Given the description of an element on the screen output the (x, y) to click on. 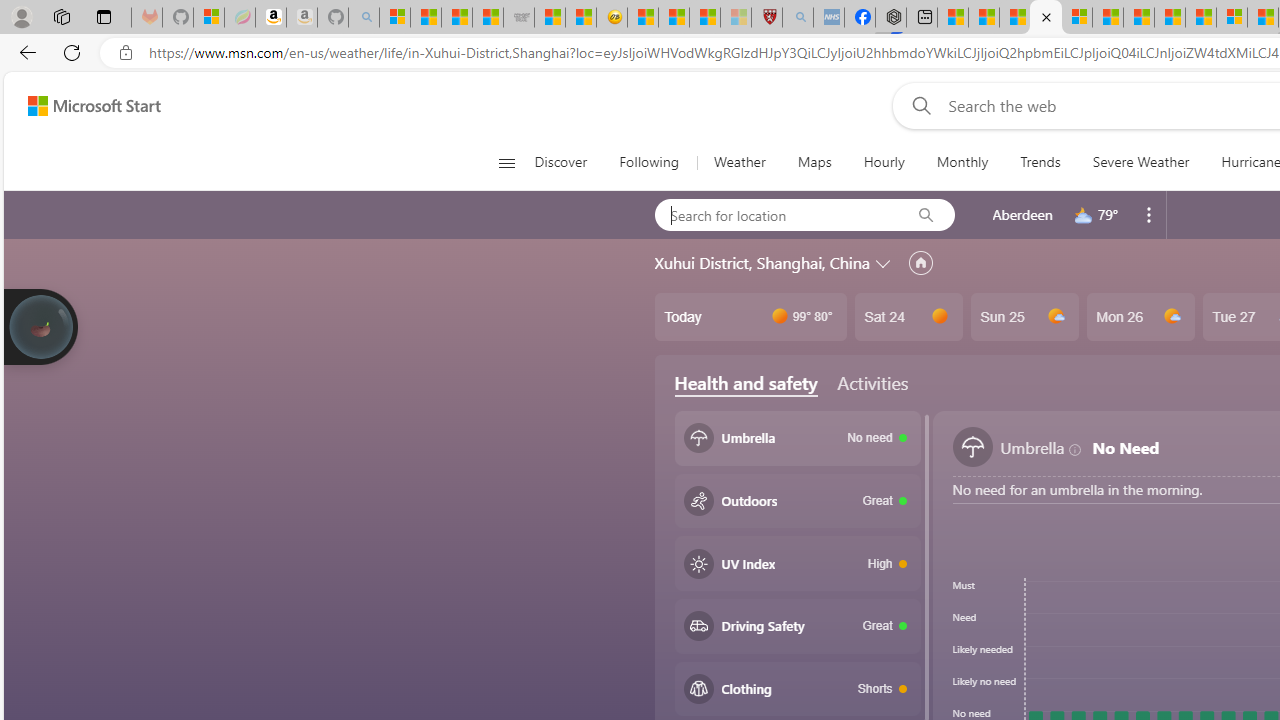
Trends (1039, 162)
Sun 25 (1024, 317)
UV index High (797, 563)
Class: button-glyph (505, 162)
NCL Adult Asthma Inhaler Choice Guideline - Sleeping (828, 17)
Xuhui District, Shanghai, China (762, 263)
Driving safety Great (797, 625)
Following (648, 162)
list of asthma inhalers uk - Search - Sleeping (797, 17)
Open navigation menu (506, 162)
